Given the description of an element on the screen output the (x, y) to click on. 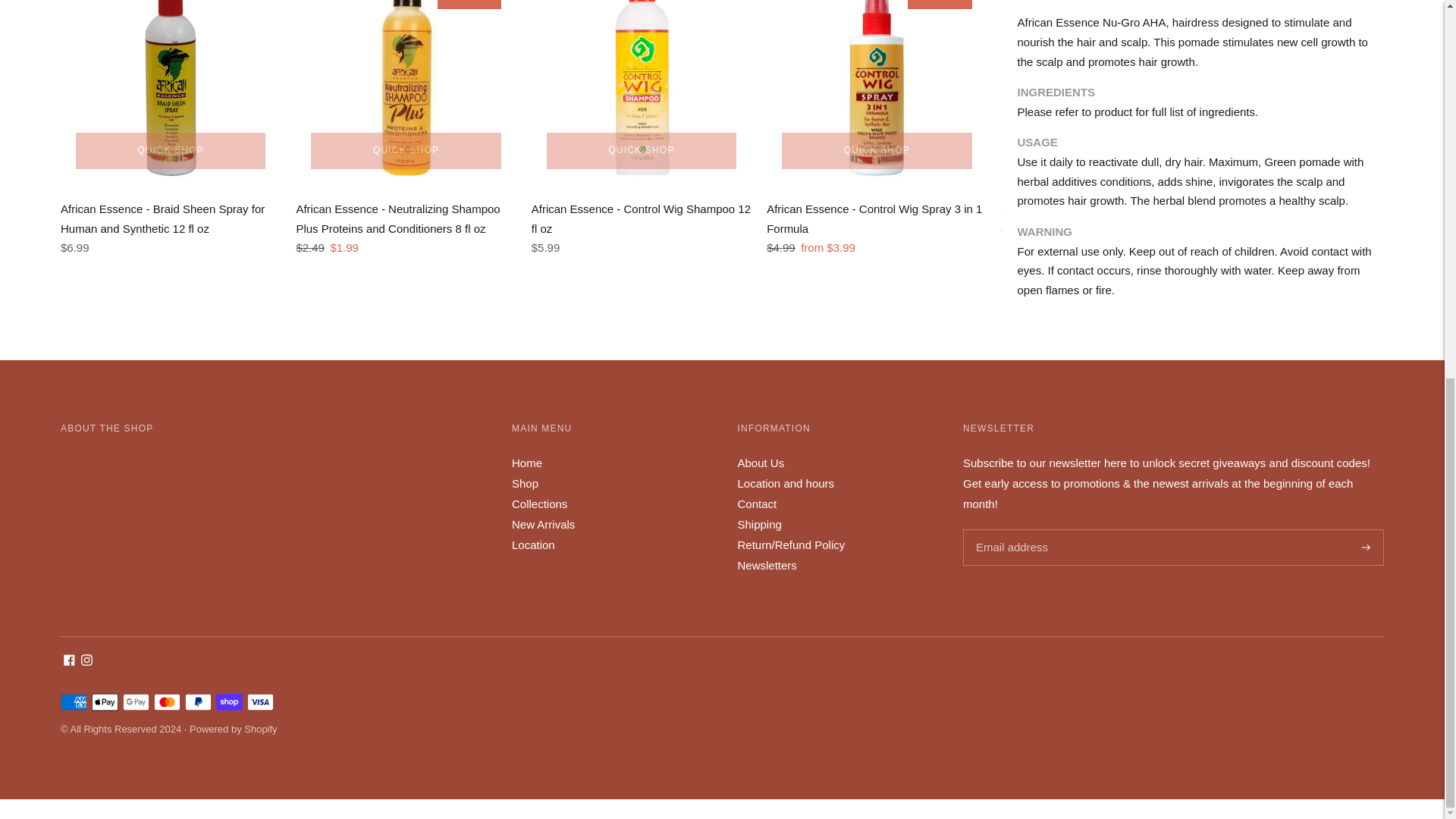
PayPal (197, 701)
American Express (74, 701)
Mastercard (167, 701)
Google Pay (135, 701)
Shop Pay (229, 701)
Visa (260, 701)
Apple Pay (104, 701)
